Given the description of an element on the screen output the (x, y) to click on. 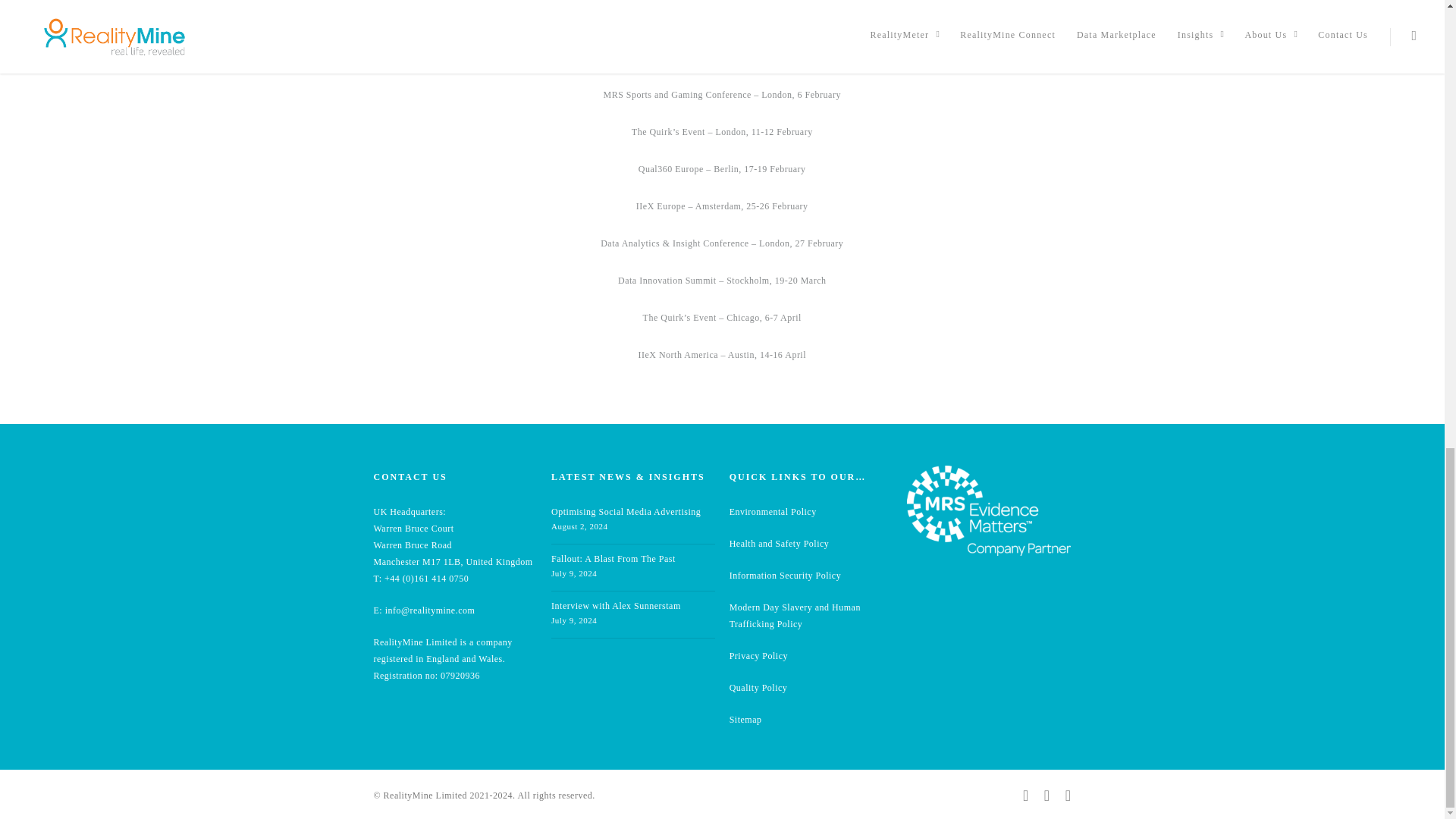
Environmental Policy (772, 511)
Interview with Alex Sunnerstam (616, 605)
Fallout: A Blast From The Past (613, 558)
Optimising Social Media Advertising (625, 511)
